Given the description of an element on the screen output the (x, y) to click on. 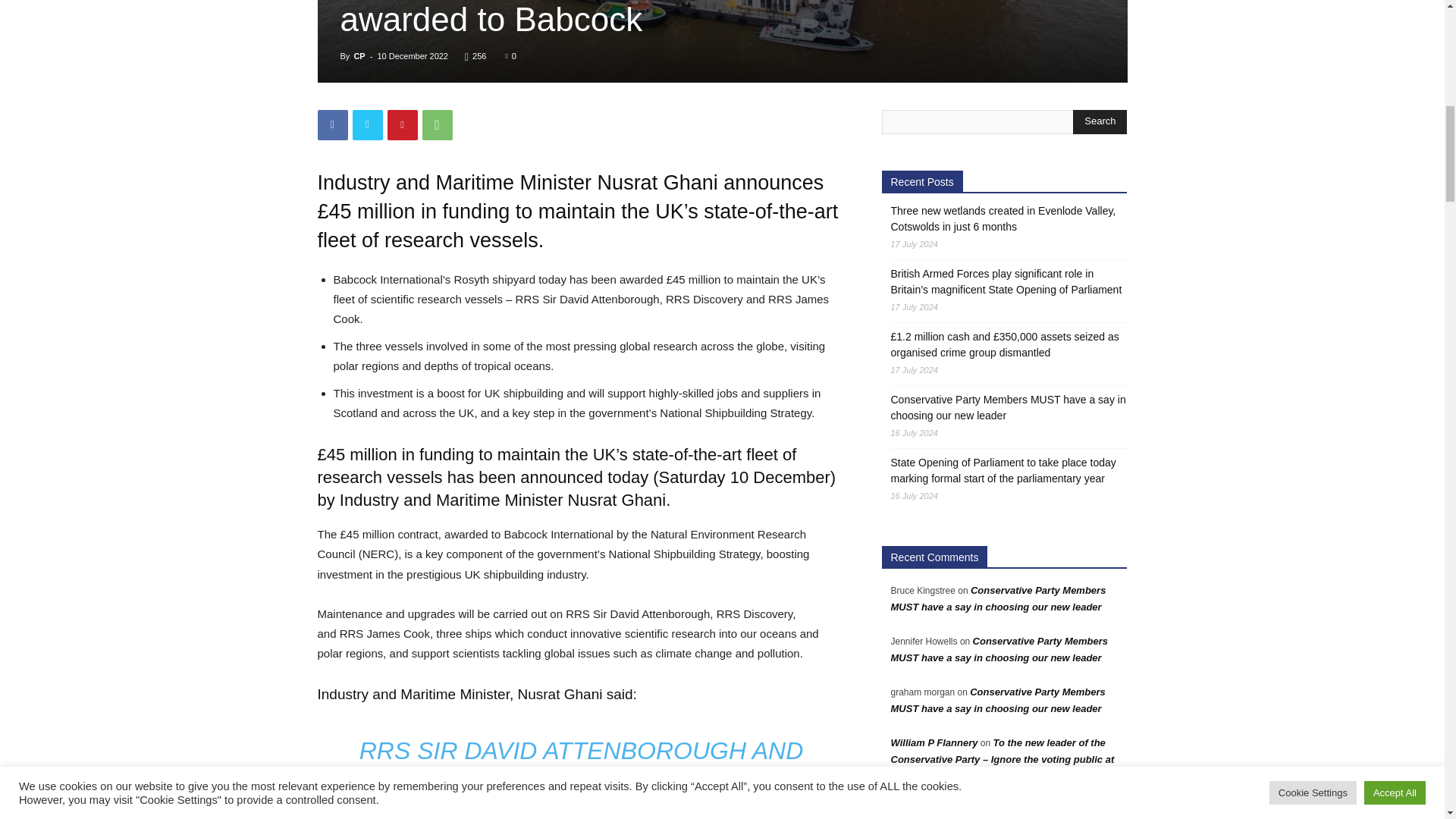
Twitter (366, 124)
Facebook (332, 124)
NERC-281021-SDA-London-01-scaled-e1635428587180 (721, 41)
Search (1099, 121)
